Given the description of an element on the screen output the (x, y) to click on. 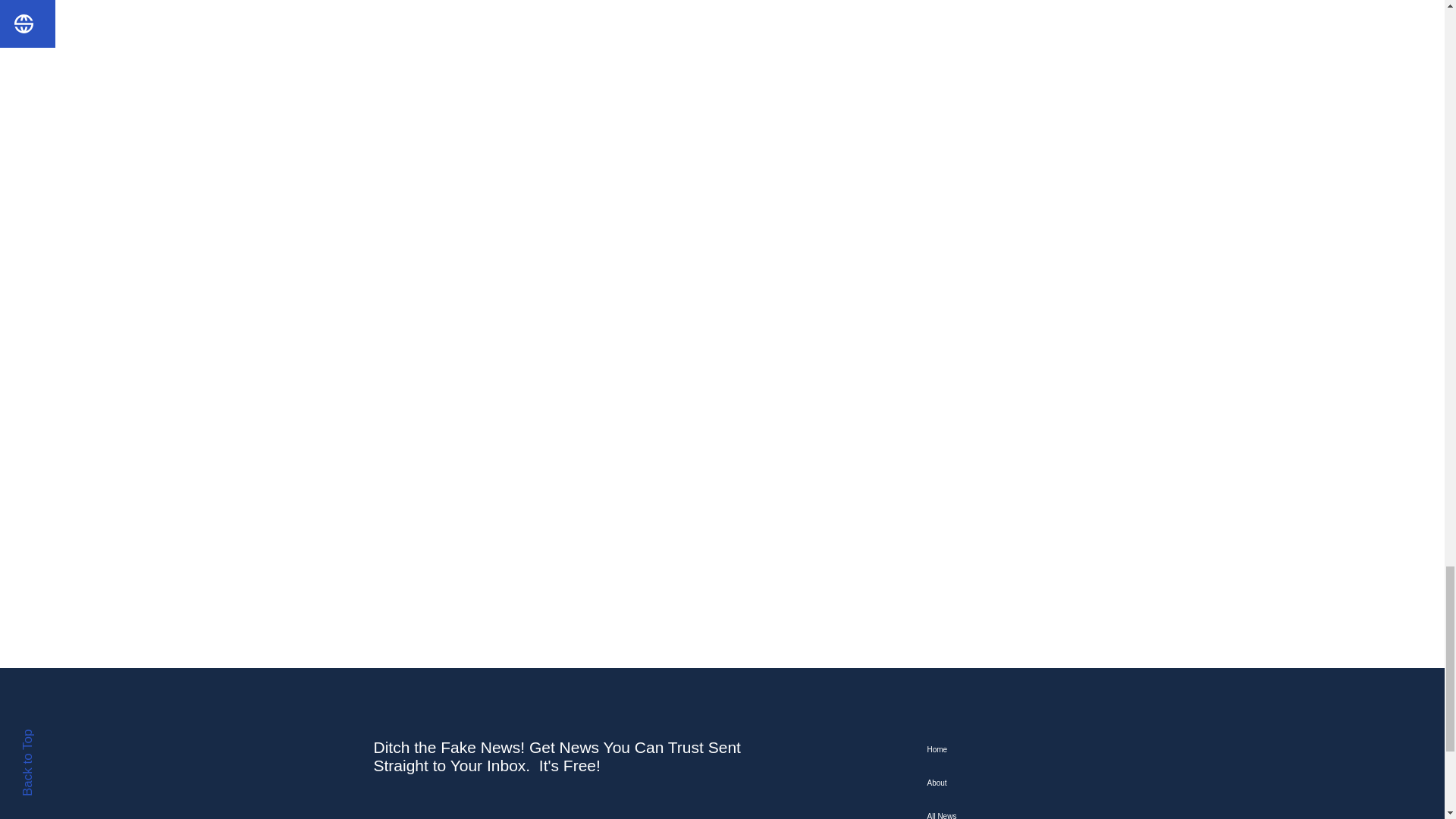
All News (1001, 809)
About (1001, 783)
Home (1001, 749)
